Given the description of an element on the screen output the (x, y) to click on. 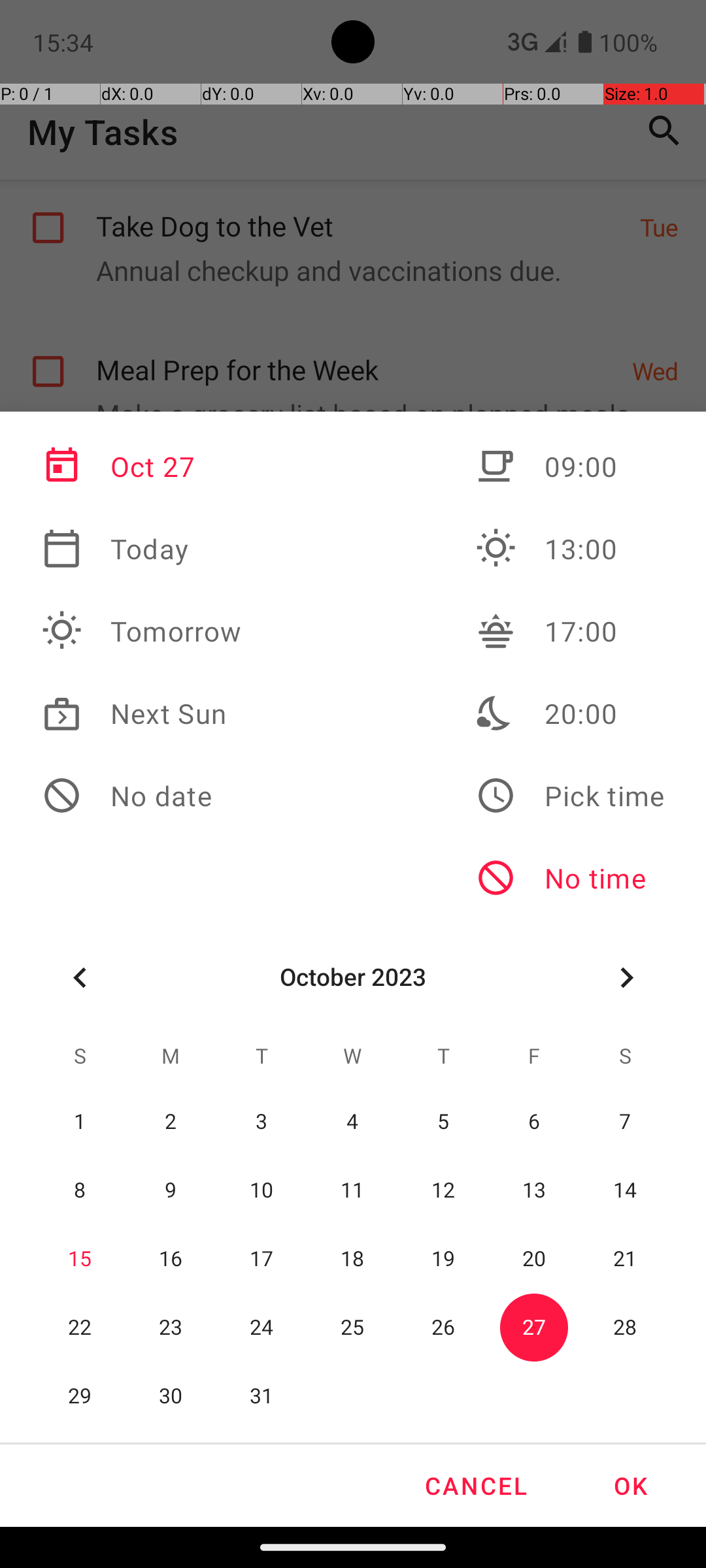
Oct 27 Element type: android.widget.CompoundButton (141, 466)
Tomorrow Element type: android.widget.CompoundButton (141, 630)
Next Sun Element type: android.widget.CompoundButton (141, 713)
No date Element type: android.widget.CompoundButton (141, 795)
20:00 Element type: android.widget.CompoundButton (569, 713)
No time Element type: android.widget.CompoundButton (569, 877)
